Given the description of an element on the screen output the (x, y) to click on. 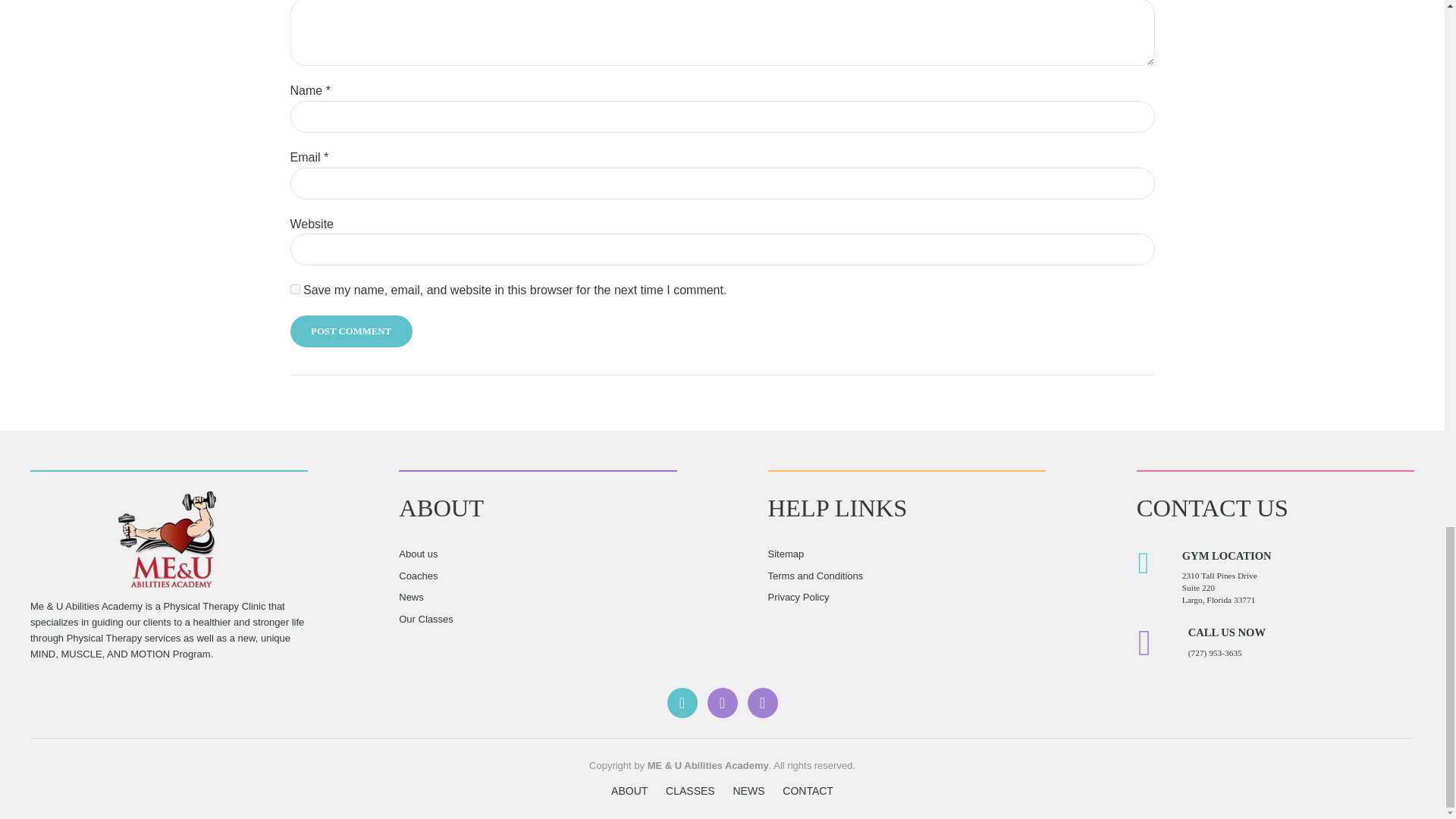
About us (418, 553)
yes (294, 289)
Our Classes (425, 618)
Coaches (418, 574)
News (410, 596)
POST COMMENT (350, 331)
